Given the description of an element on the screen output the (x, y) to click on. 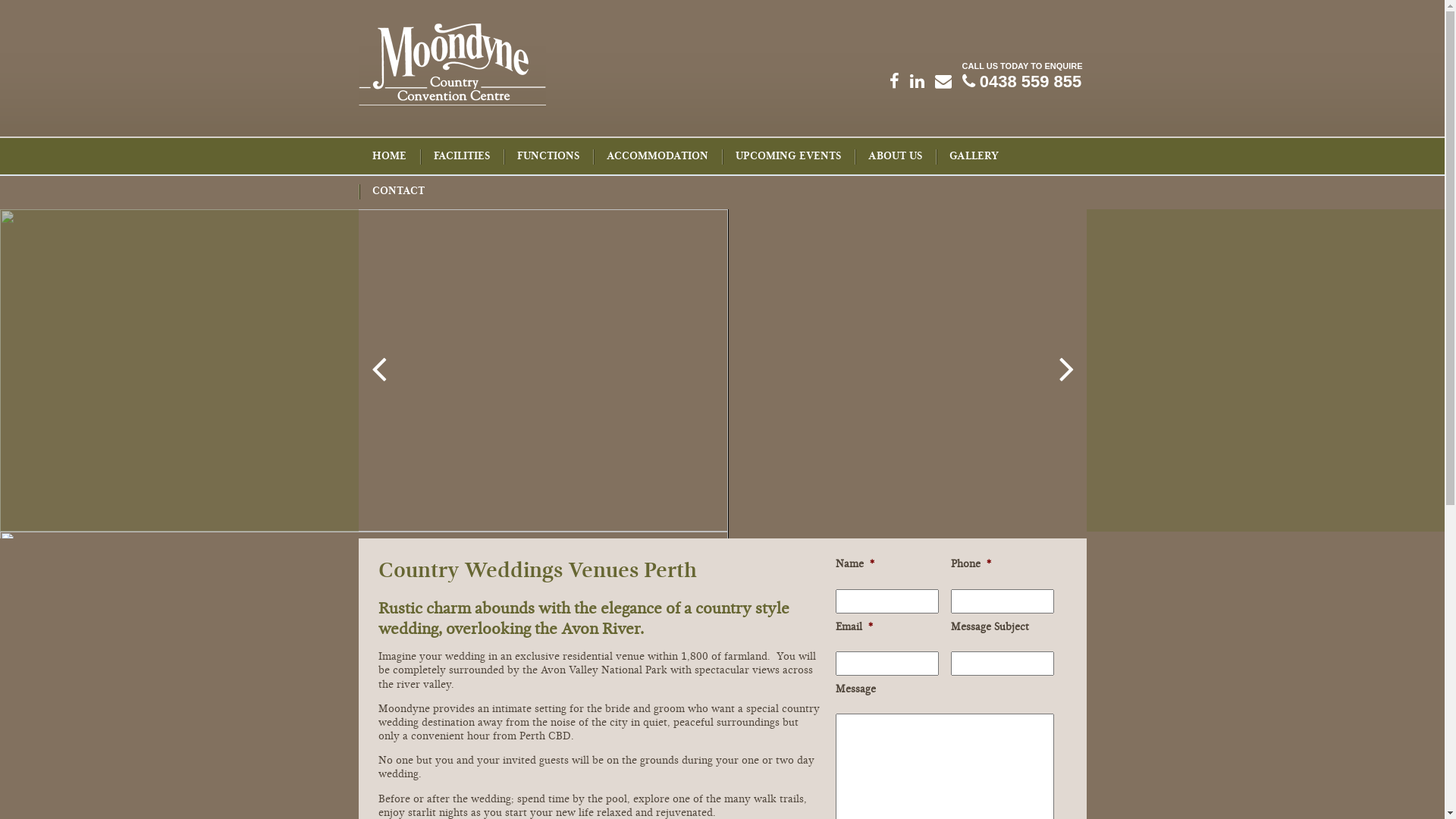
Moondyne Convention Centre Element type: hover (451, 100)
CALL US TODAY TO ENQUIRE
0438 559 855 Element type: text (1022, 76)
CONTACT Element type: text (397, 191)
UPCOMING EVENTS Element type: text (787, 156)
FUNCTIONS Element type: text (548, 156)
ABOUT US Element type: text (894, 156)
FACILITIES Element type: text (461, 156)
ACCOMMODATION Element type: text (657, 156)
HOME Element type: text (388, 156)
GALLERY Element type: text (973, 156)
